Given the description of an element on the screen output the (x, y) to click on. 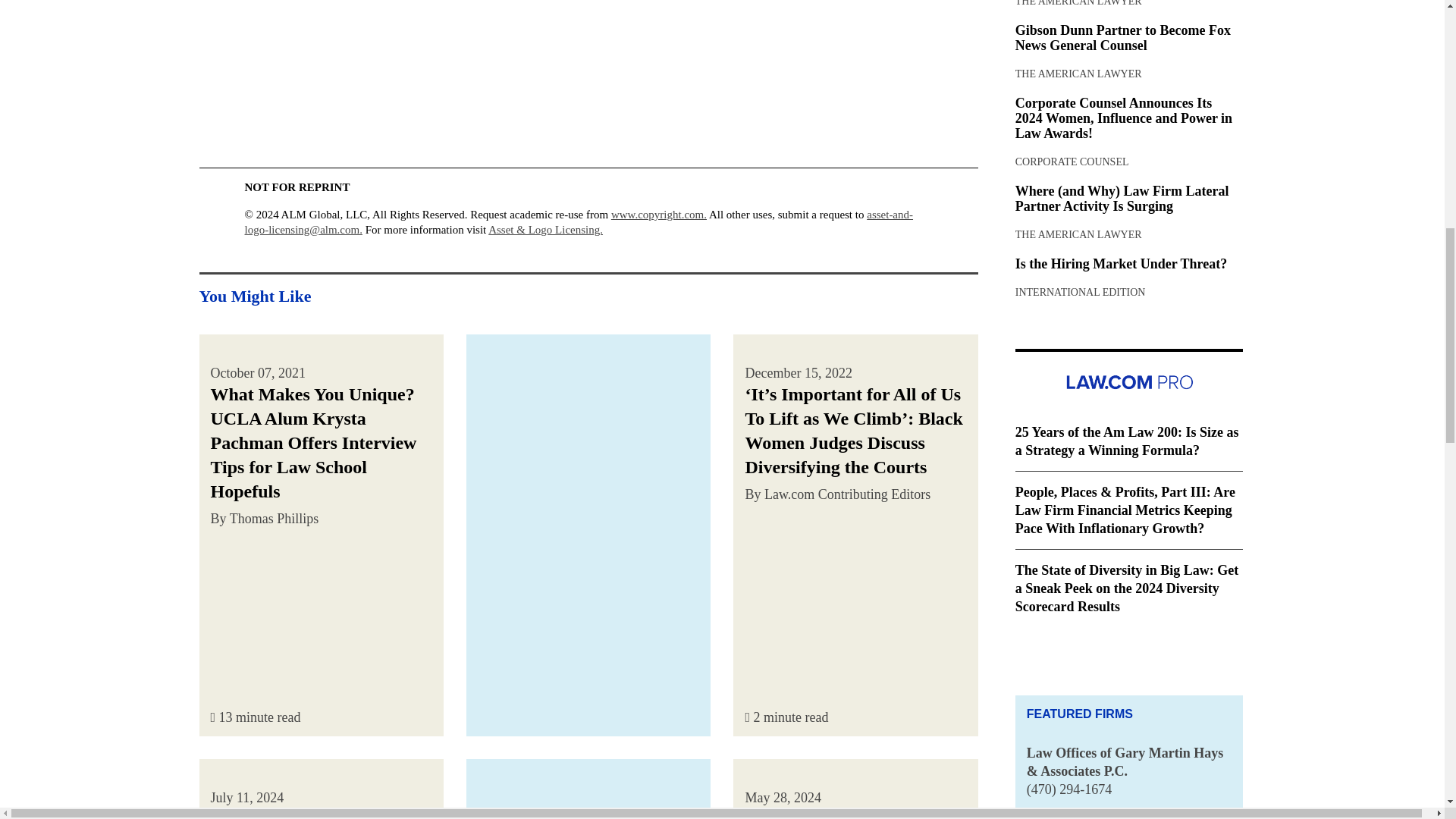
3rd party ad content (587, 789)
